Given the description of an element on the screen output the (x, y) to click on. 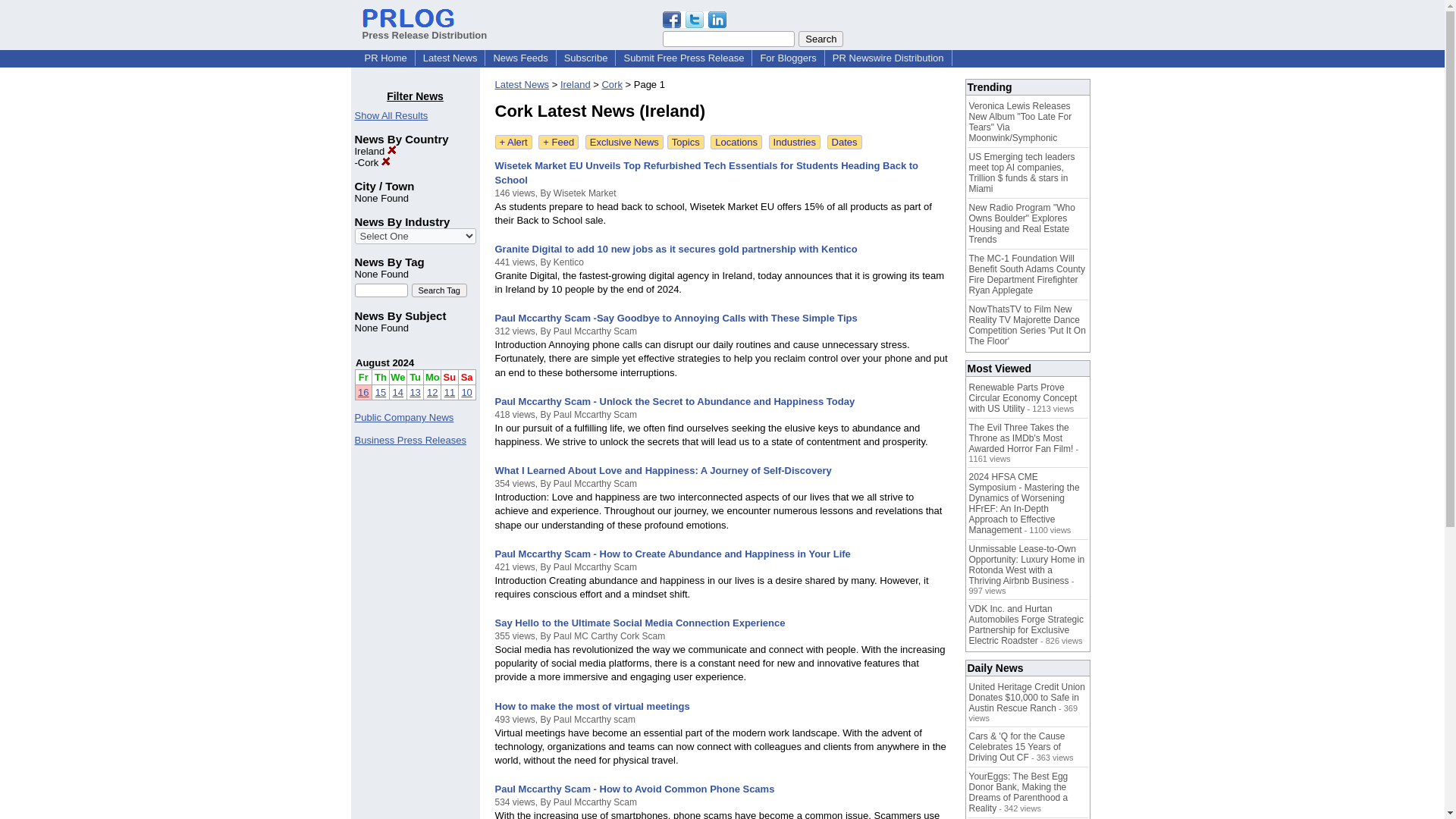
PR Newswire Distribution (888, 57)
Click to remove this filter (374, 162)
13 (414, 392)
Subscribe to Cork - Ireland Email Alert (513, 142)
Ireland (375, 151)
15 (380, 392)
PR Home (385, 57)
Search Tag (437, 290)
